Given the description of an element on the screen output the (x, y) to click on. 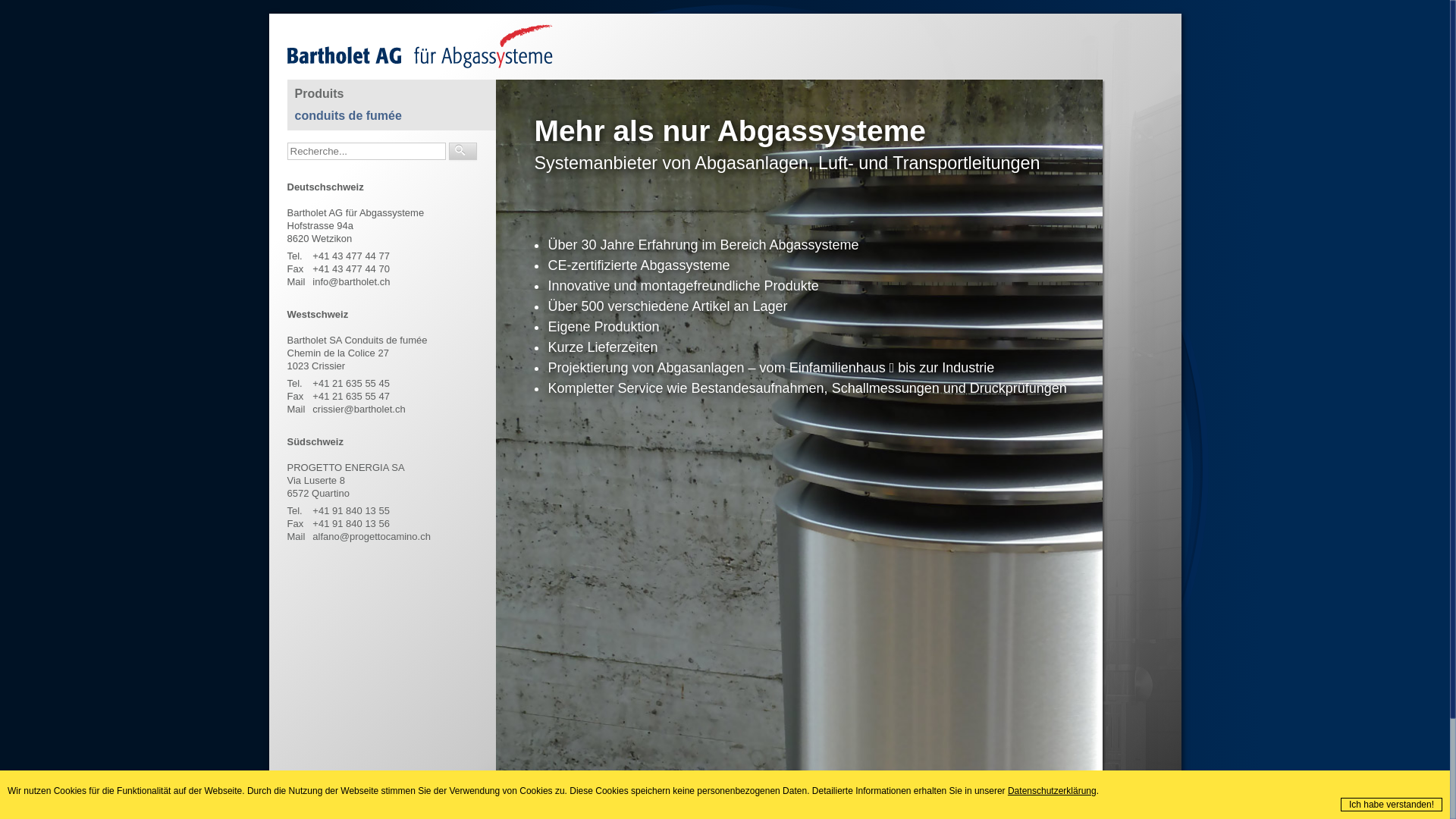
alfano@progettocamino.ch Element type: text (371, 536)
Westschweiz Element type: text (317, 314)
Deutschschweiz Element type: text (324, 186)
Ich habe verstanden! Element type: text (1391, 804)
page d'accueil Element type: text (566, 803)
info@bartholet.ch Element type: text (350, 281)
Sitemap Element type: text (653, 803)
crissier@bartholet.ch Element type: text (358, 408)
